Given the description of an element on the screen output the (x, y) to click on. 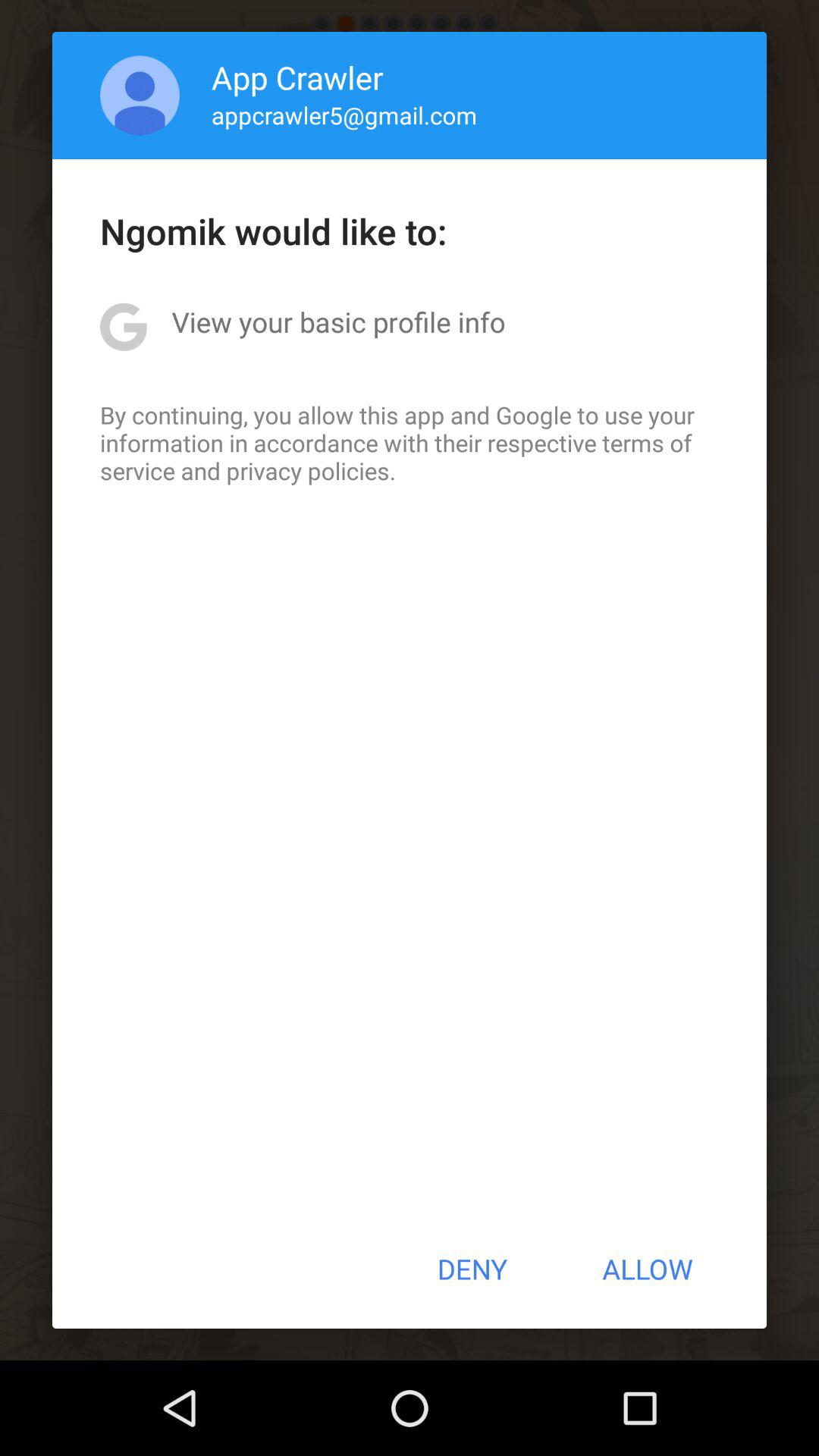
scroll to view your basic icon (338, 321)
